Given the description of an element on the screen output the (x, y) to click on. 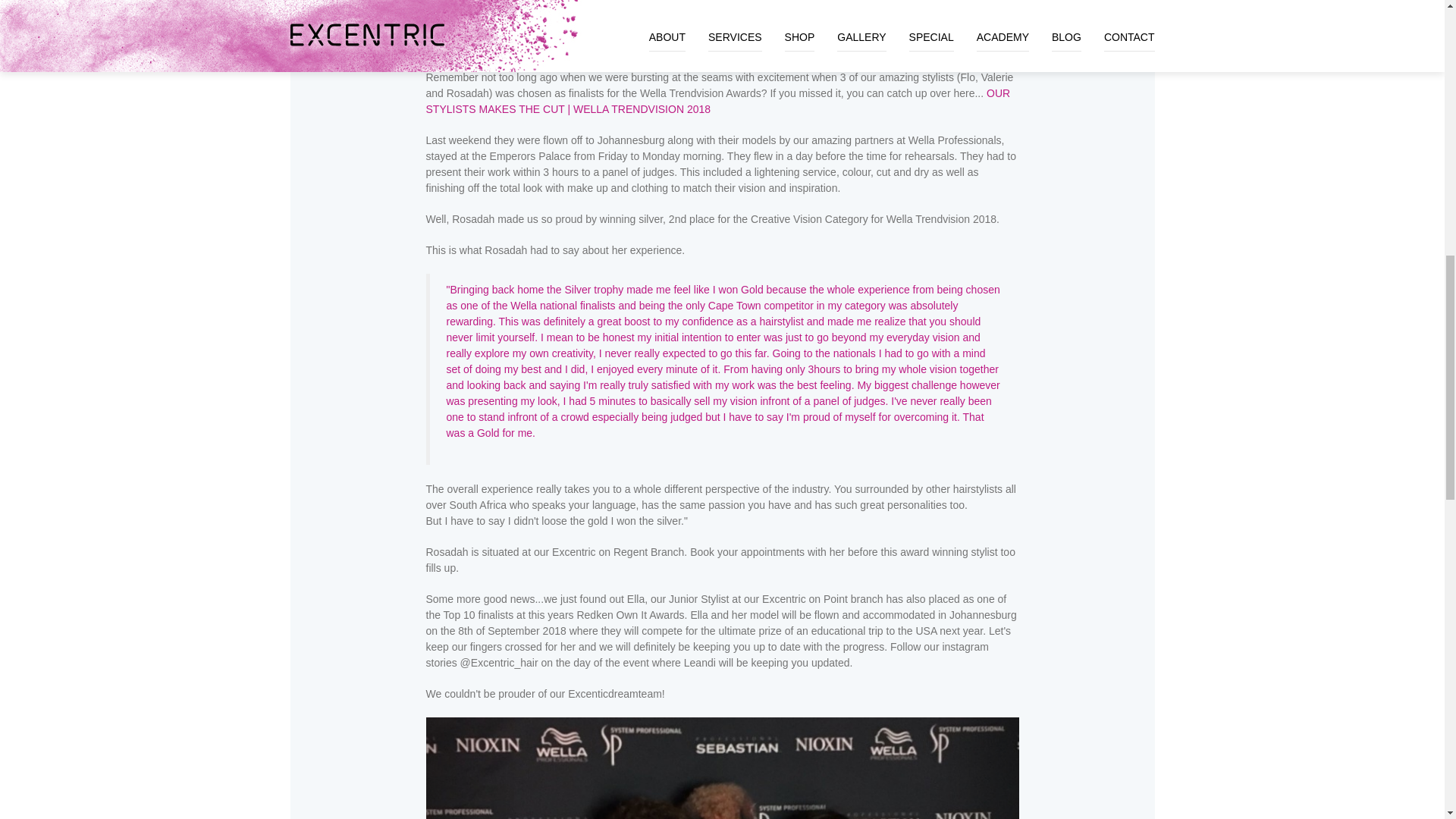
By Excentric Hair (469, 2)
